Given the description of an element on the screen output the (x, y) to click on. 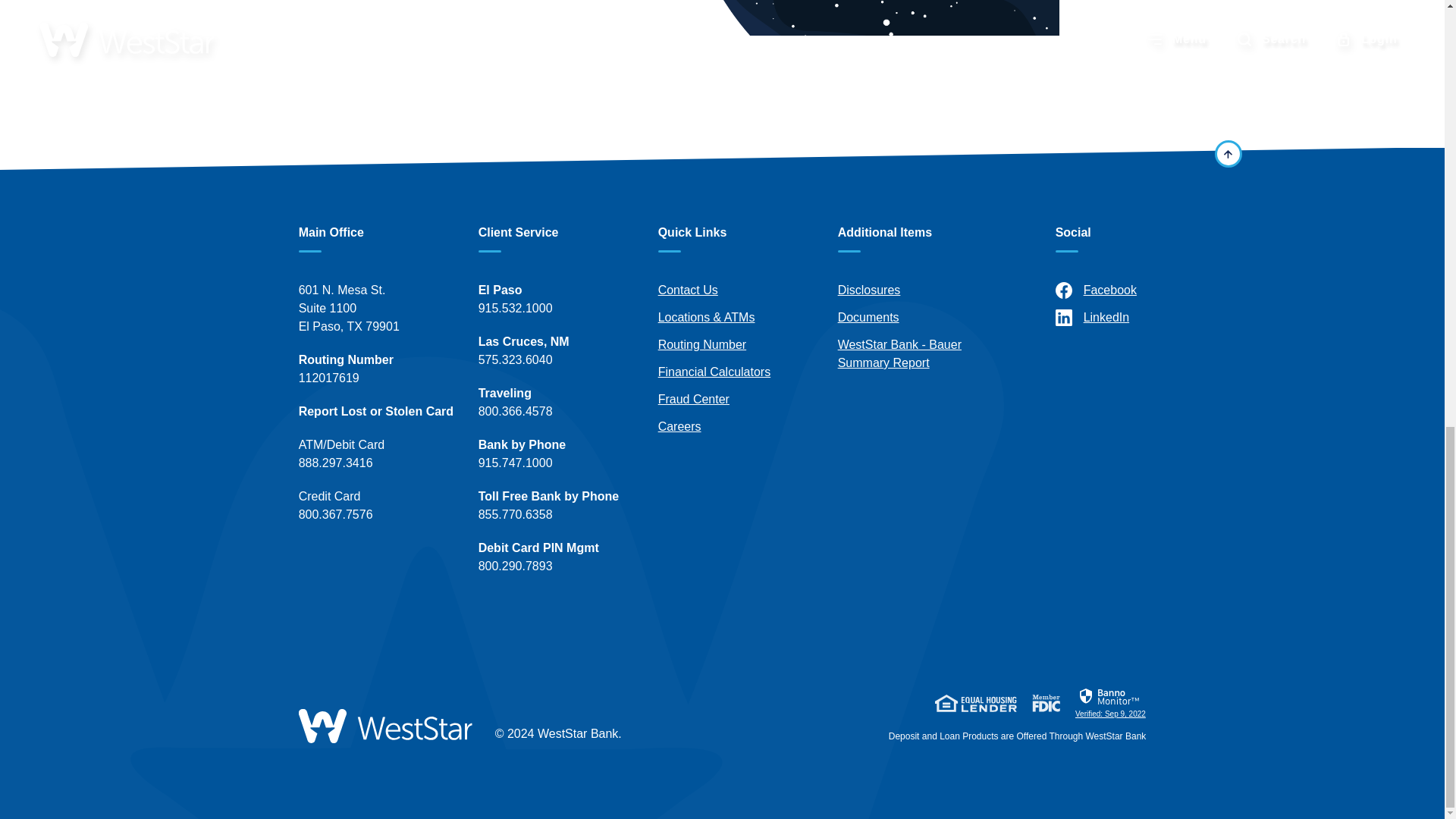
LinkedIn (1133, 317)
Monitor Scan Details (1110, 701)
Member FDIC (1045, 702)
Scroll to Top of Page (1227, 153)
WestStar Bank, El Paso, TX (384, 725)
Equal Housing Lender (975, 702)
Scanned by Banno Monitor (1110, 696)
Facebook (1133, 290)
